Given the description of an element on the screen output the (x, y) to click on. 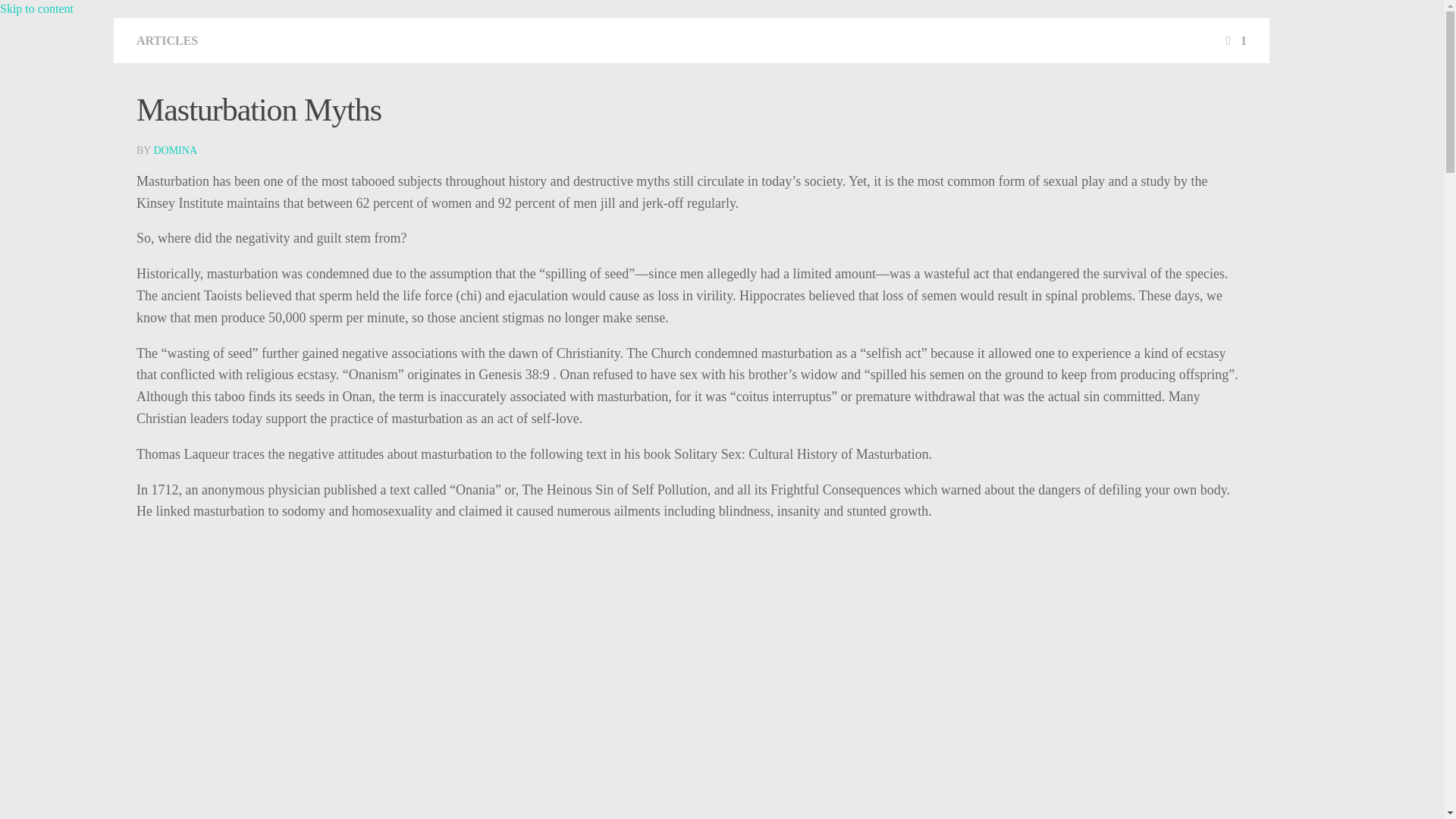
Skip to content (37, 8)
ARTICLES (167, 40)
DOMINA (174, 150)
1 (1234, 40)
Posts by domina (174, 150)
